Given the description of an element on the screen output the (x, y) to click on. 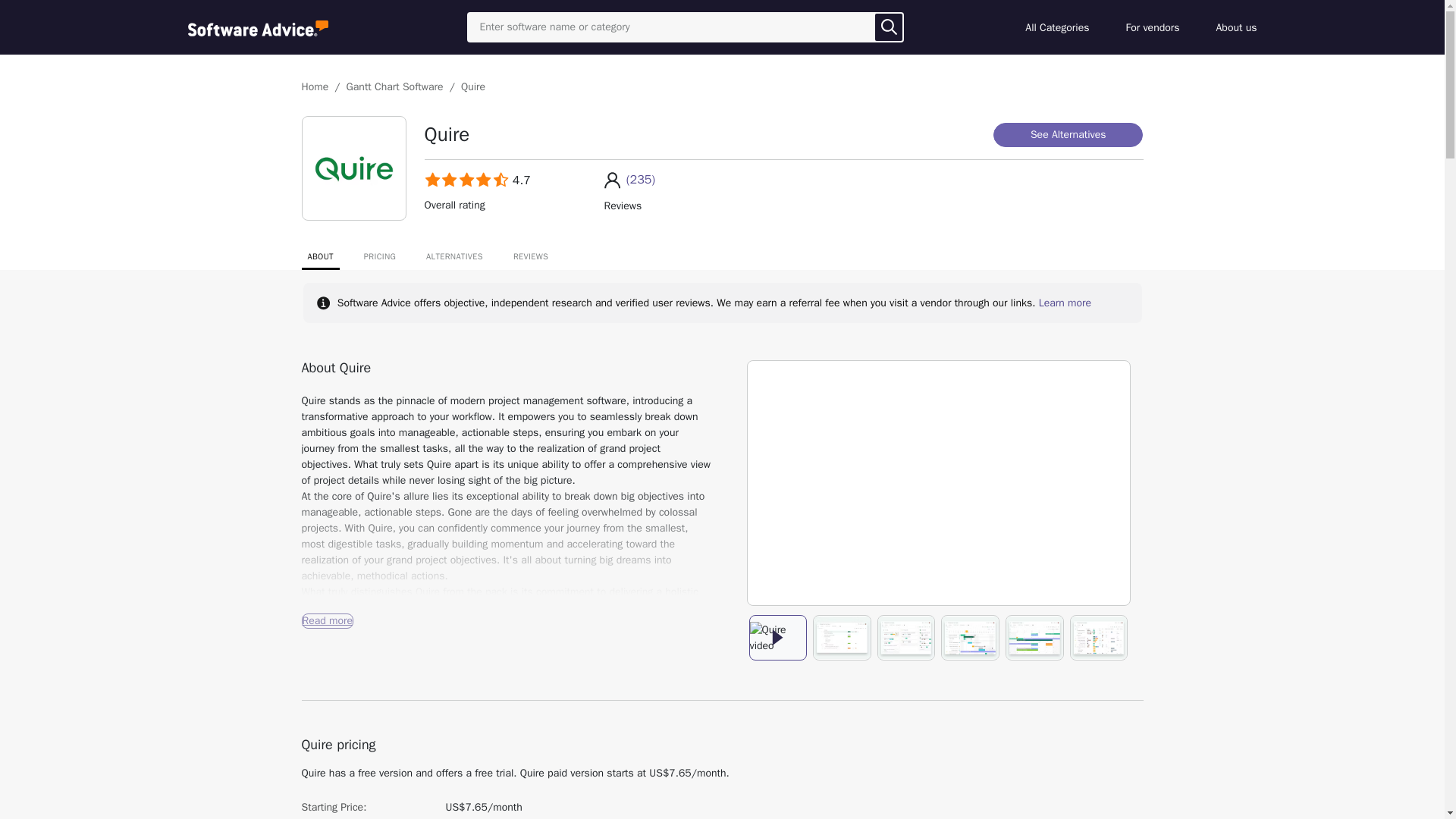
For vendors (1152, 27)
Home (315, 86)
ALTERNATIVES (454, 260)
Gantt Chart Software (395, 86)
Software Advice (258, 27)
About us (1236, 27)
youtube video (938, 482)
REVIEWS (530, 260)
PRICING (379, 260)
See Alternatives (1067, 134)
